Given the description of an element on the screen output the (x, y) to click on. 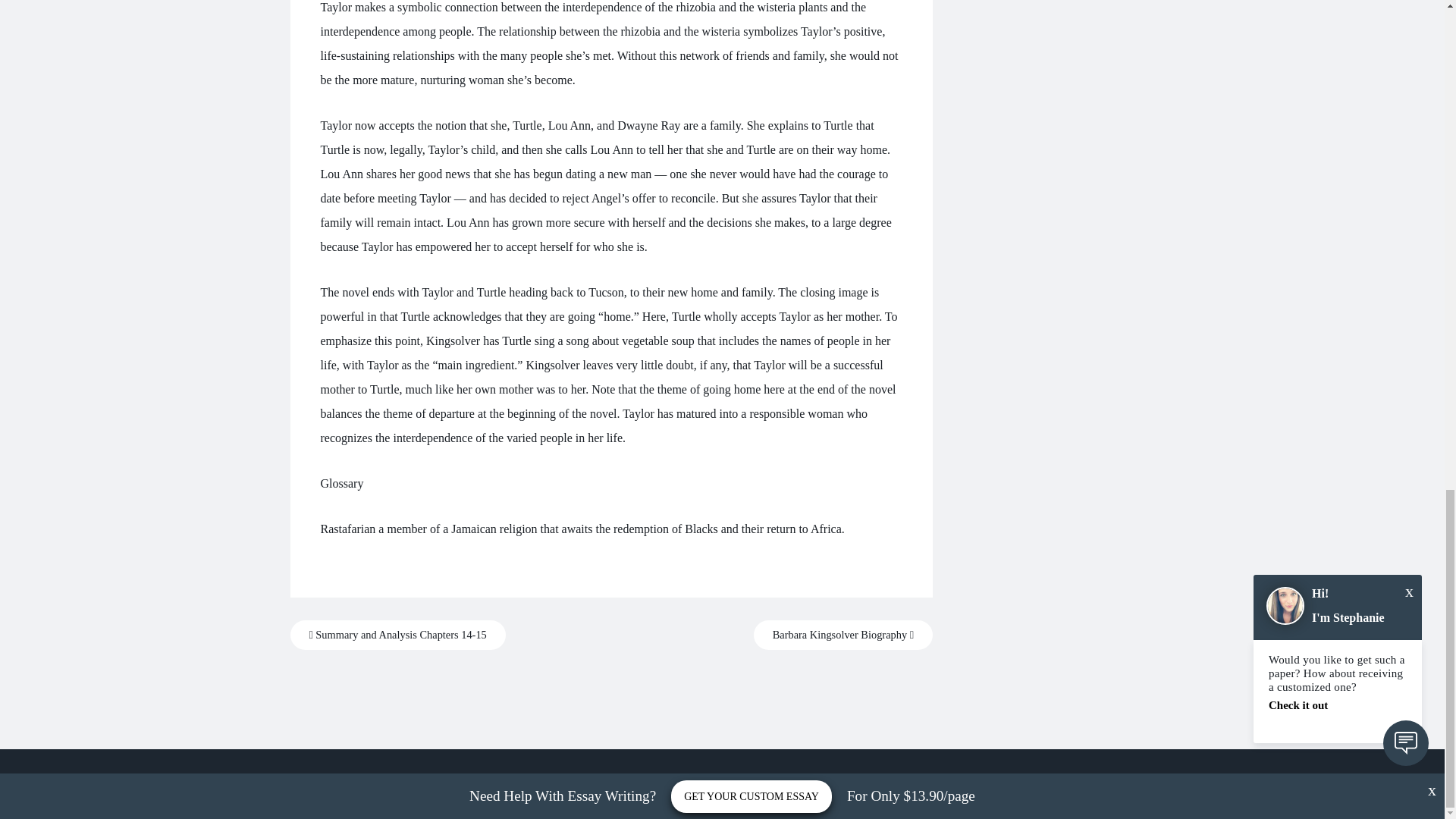
Summary and Analysis Chapters 14-15 (397, 634)
Barbara Kingsolver Biography (843, 634)
Privacy policy (722, 783)
